Given the description of an element on the screen output the (x, y) to click on. 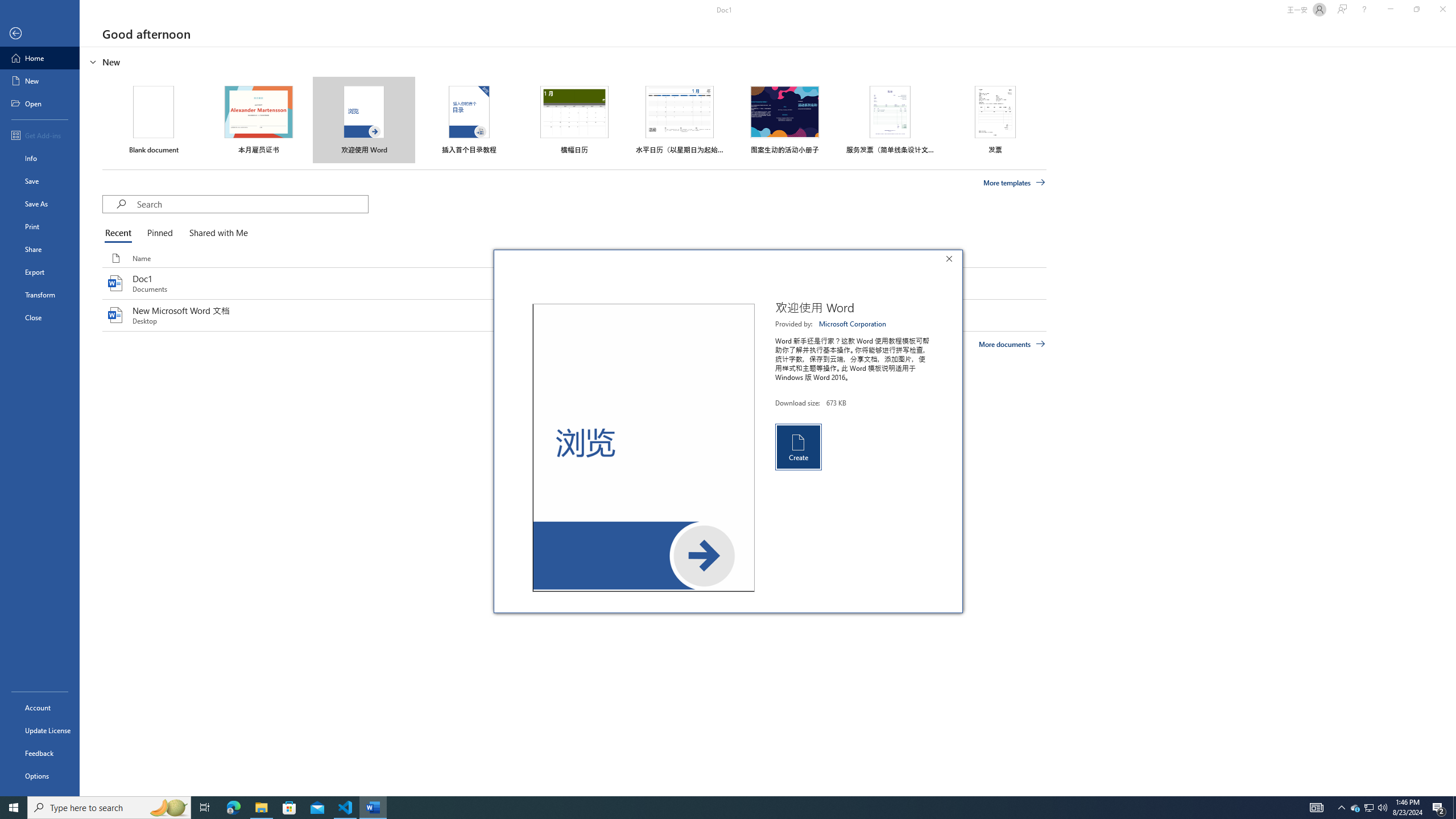
Options (40, 775)
Microsoft Store (289, 807)
File Explorer - 1 running window (261, 807)
AutomationID: 4105 (1316, 807)
Search highlights icon opens search home window (167, 807)
Recent (119, 233)
Notification Chevron (1341, 807)
Q2790: 100% (1382, 807)
